Given the description of an element on the screen output the (x, y) to click on. 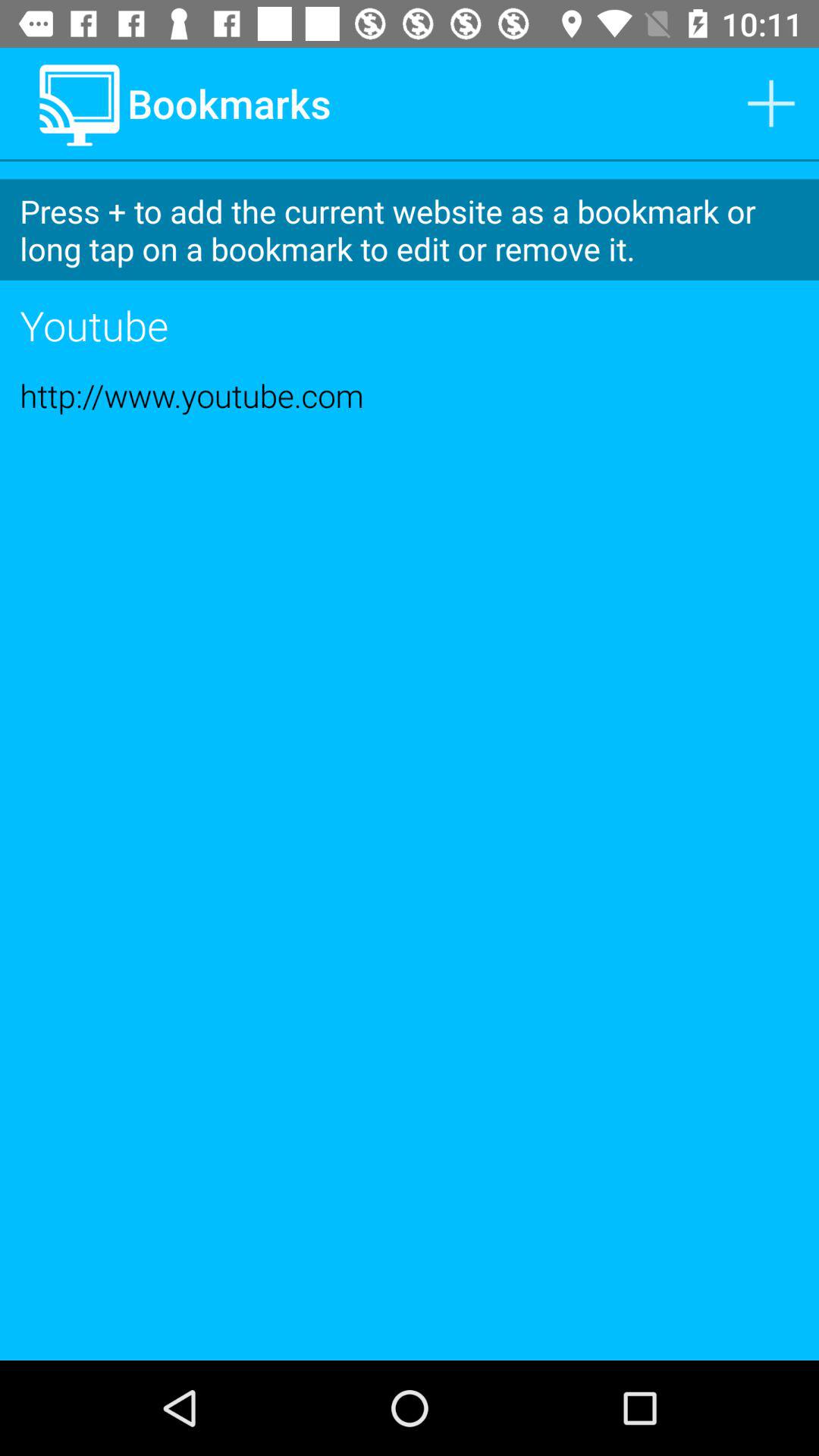
tap http www youtube item (409, 395)
